Given the description of an element on the screen output the (x, y) to click on. 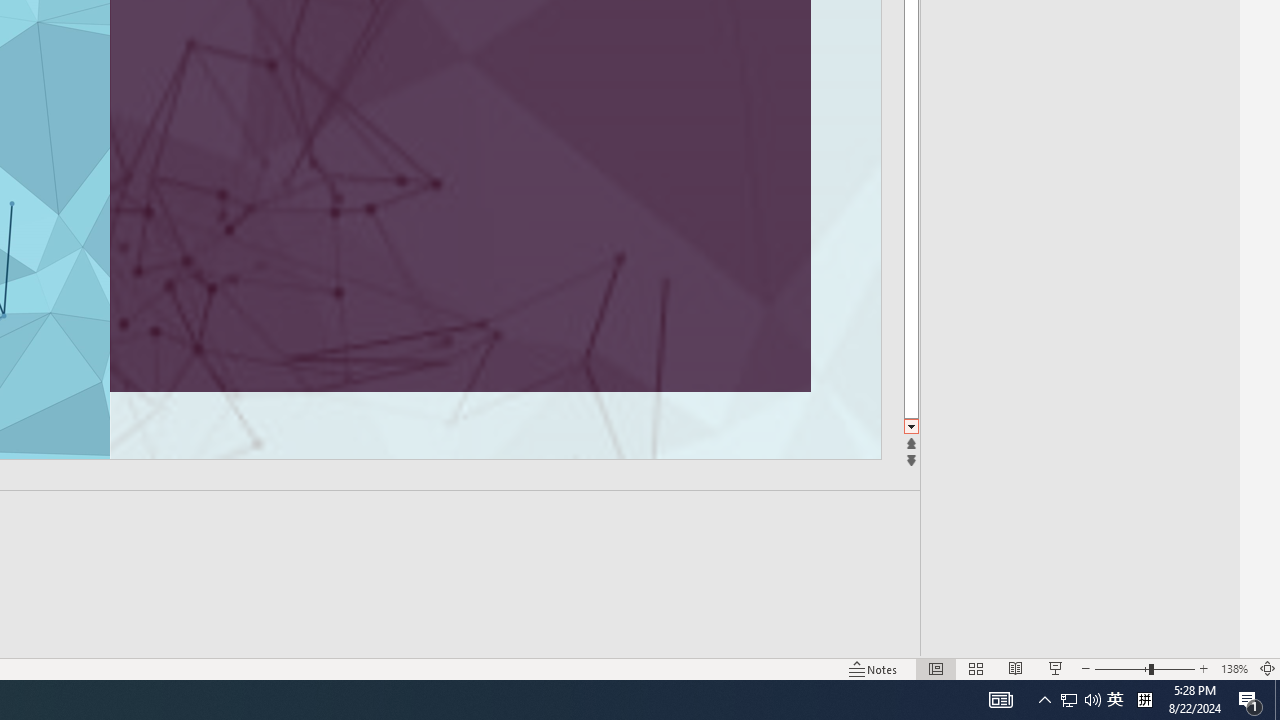
Zoom 138% (1234, 668)
